Given the description of an element on the screen output the (x, y) to click on. 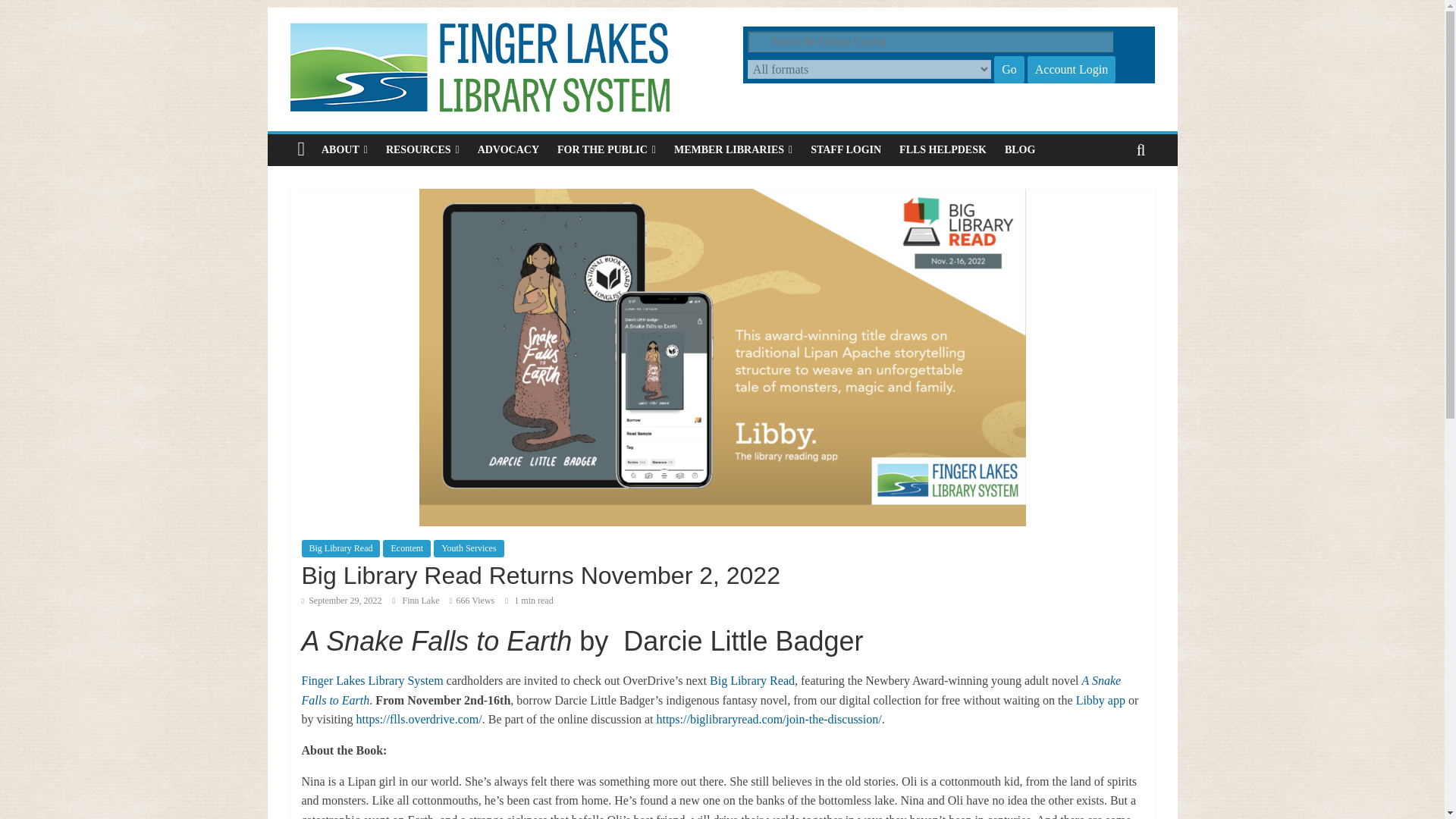
Finger Lakes Library System (301, 150)
Finn Lake (422, 600)
Search the Library Catalog (930, 41)
Go (1009, 69)
Go (1009, 69)
FOR THE PUBLIC (606, 150)
RESOURCES (422, 150)
ABOUT (345, 150)
ADVOCACY (508, 150)
Account Login (1071, 69)
Go (1009, 69)
9:40 am (341, 600)
